Given the description of an element on the screen output the (x, y) to click on. 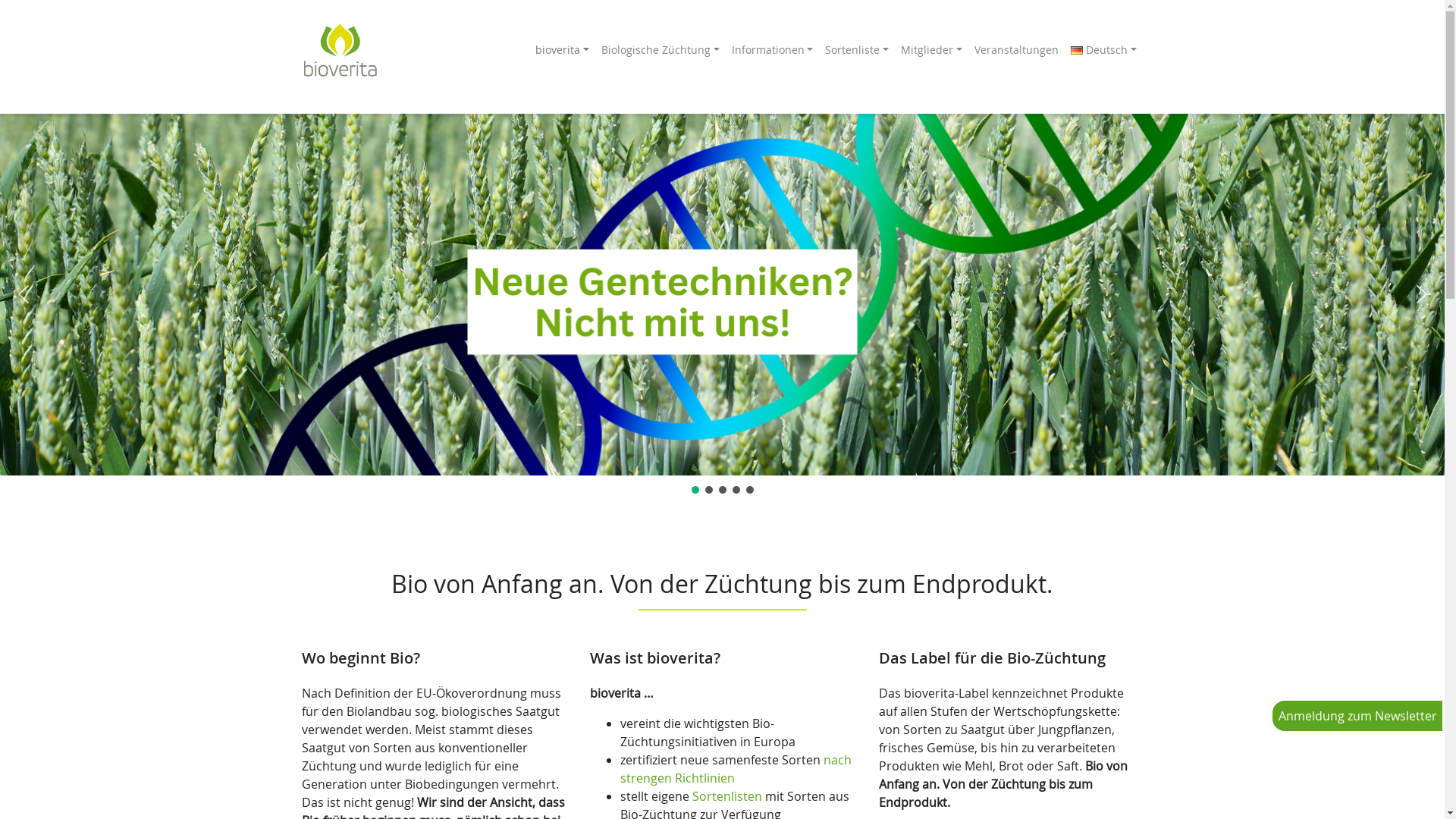
Deutsch Element type: text (1103, 50)
Anmeldung zum Newsletter Element type: text (1357, 715)
Mitglieder Element type: text (931, 50)
nach strengen Richtlinien Element type: text (735, 768)
Sortenliste Element type: text (856, 50)
bioverita Element type: text (562, 49)
Veranstaltungen Element type: text (1016, 50)
Informationen Element type: text (771, 50)
Sortenlisten Element type: text (728, 795)
